Given the description of an element on the screen output the (x, y) to click on. 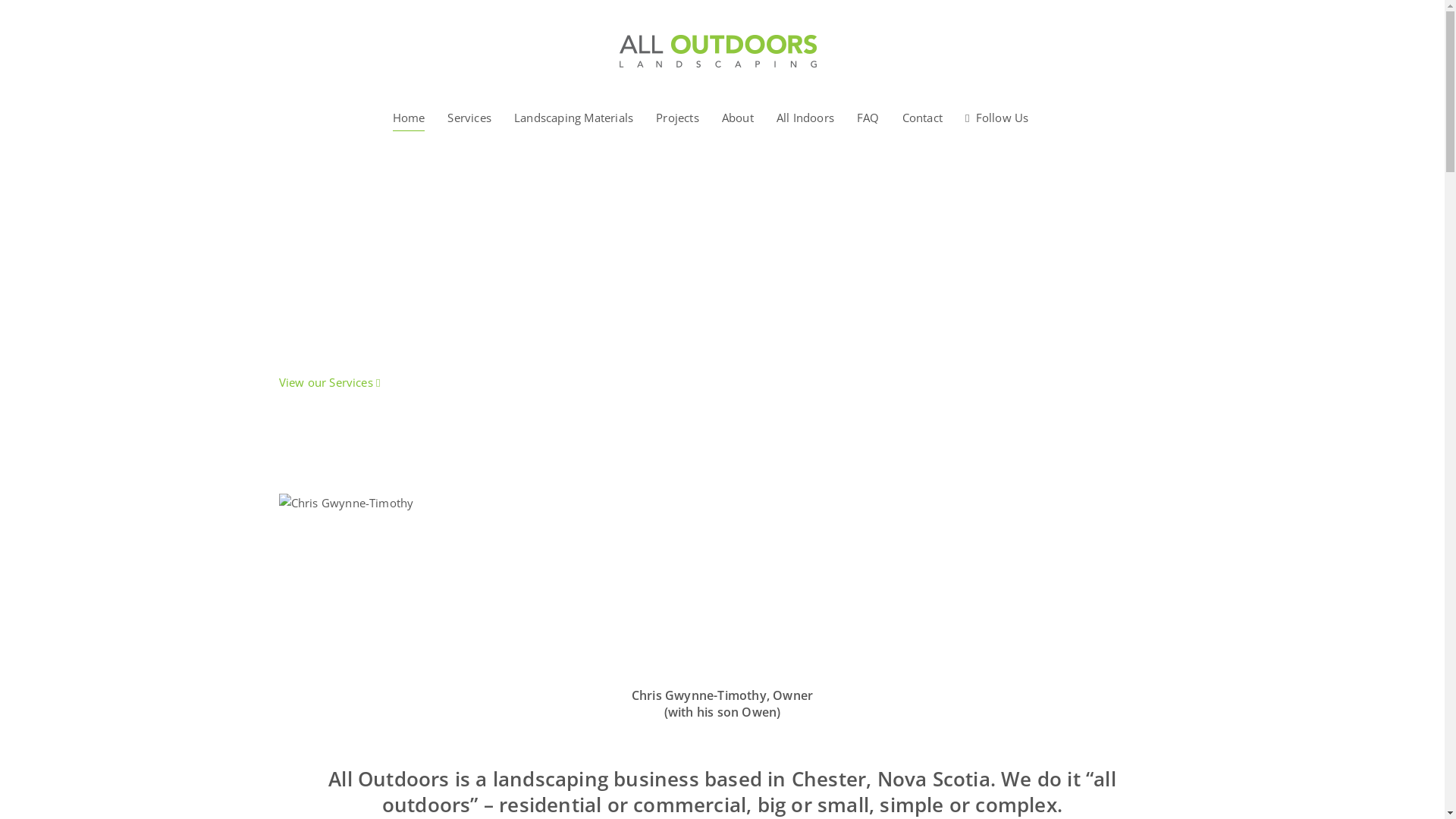
All Indoors Element type: text (805, 117)
Home Element type: text (408, 117)
Projects Element type: text (677, 117)
Services Element type: text (469, 117)
View our Services Element type: text (329, 381)
Contact Element type: text (922, 117)
Follow Us Element type: text (997, 117)
ChrisGwynne-Timothy_2 Element type: hover (368, 582)
Landscaping Materials Element type: text (573, 117)
About Element type: text (737, 117)
FAQ Element type: text (867, 117)
